Given the description of an element on the screen output the (x, y) to click on. 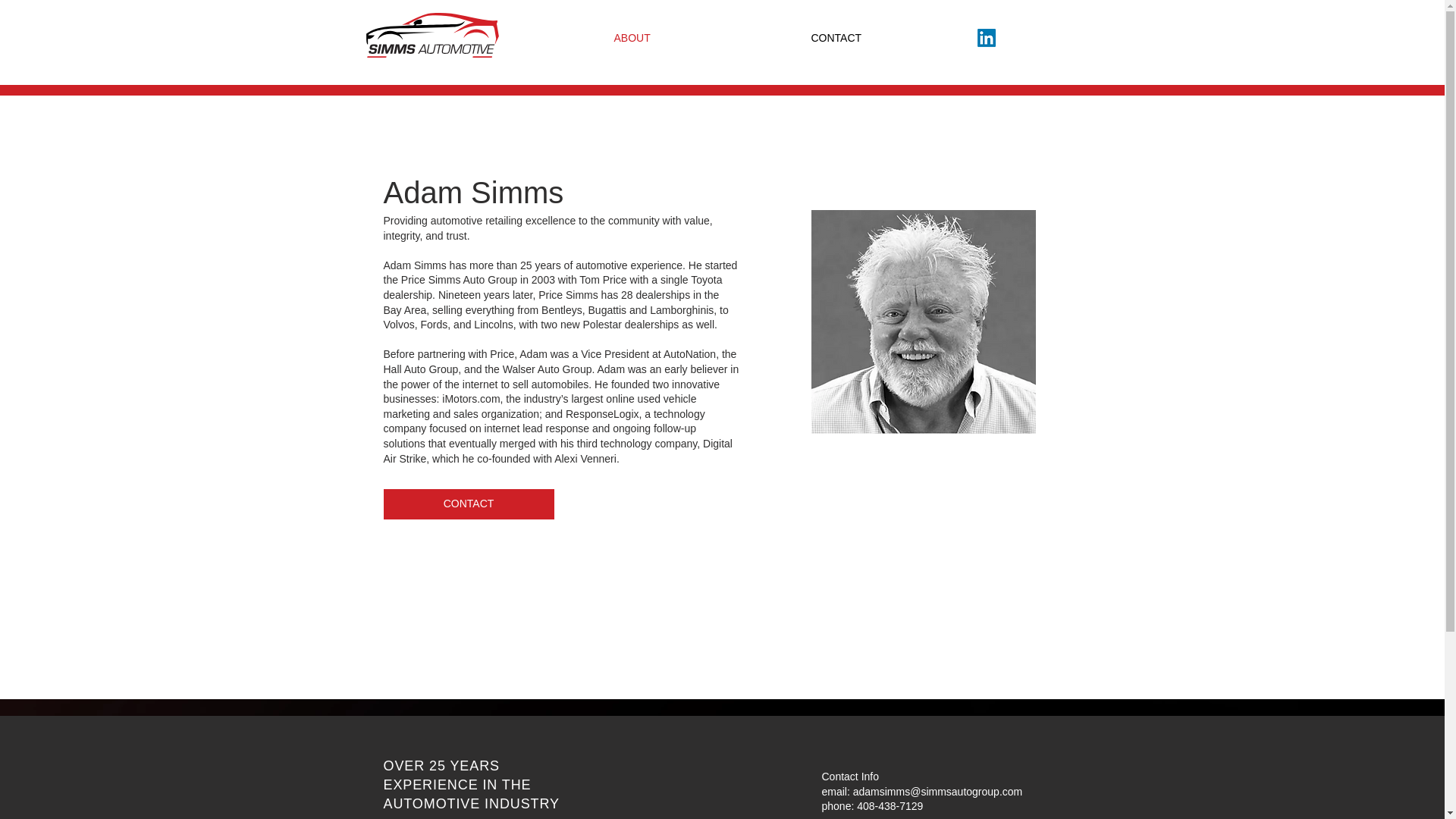
CONTACT (904, 37)
CONTACT (469, 503)
ABOUT (700, 37)
